Given the description of an element on the screen output the (x, y) to click on. 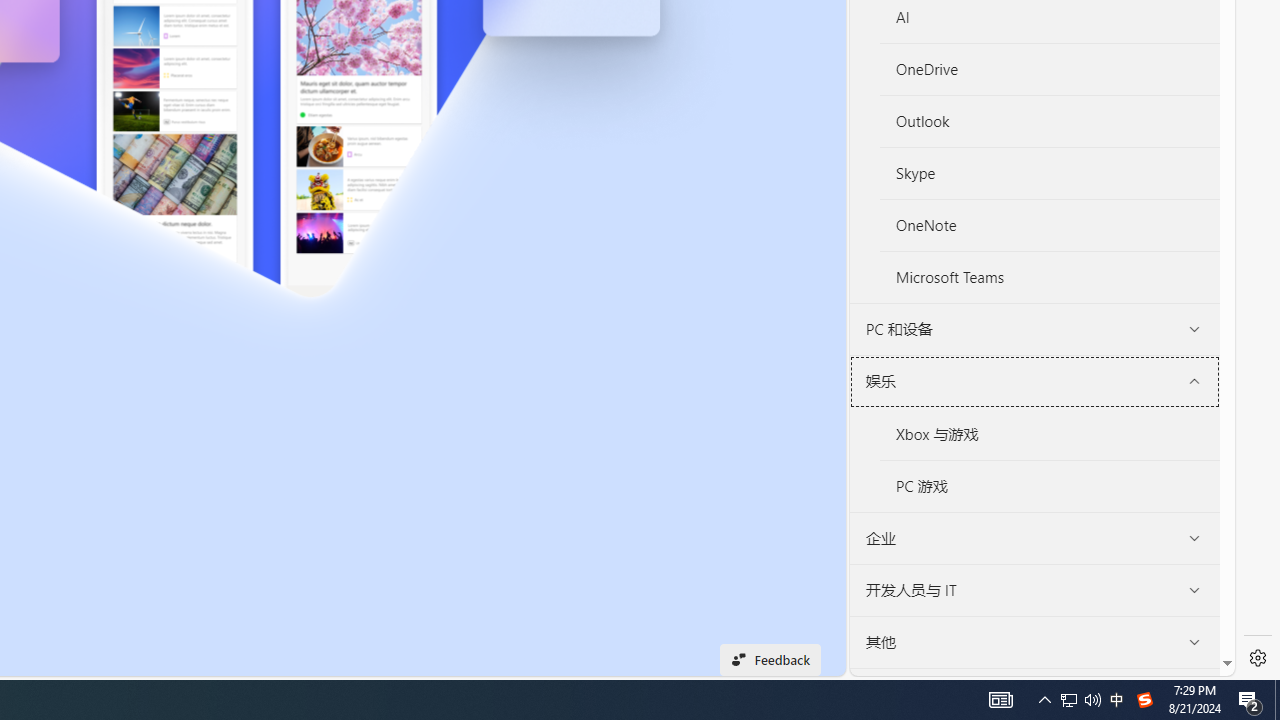
Microsoft Teams (1049, 276)
OneNote (1049, 225)
Microsoft Teams (1049, 276)
OneNote (1049, 224)
OneDrive (1049, 69)
Skype (1049, 173)
Outlook (1049, 121)
OneDrive (1049, 69)
